Given the description of an element on the screen output the (x, y) to click on. 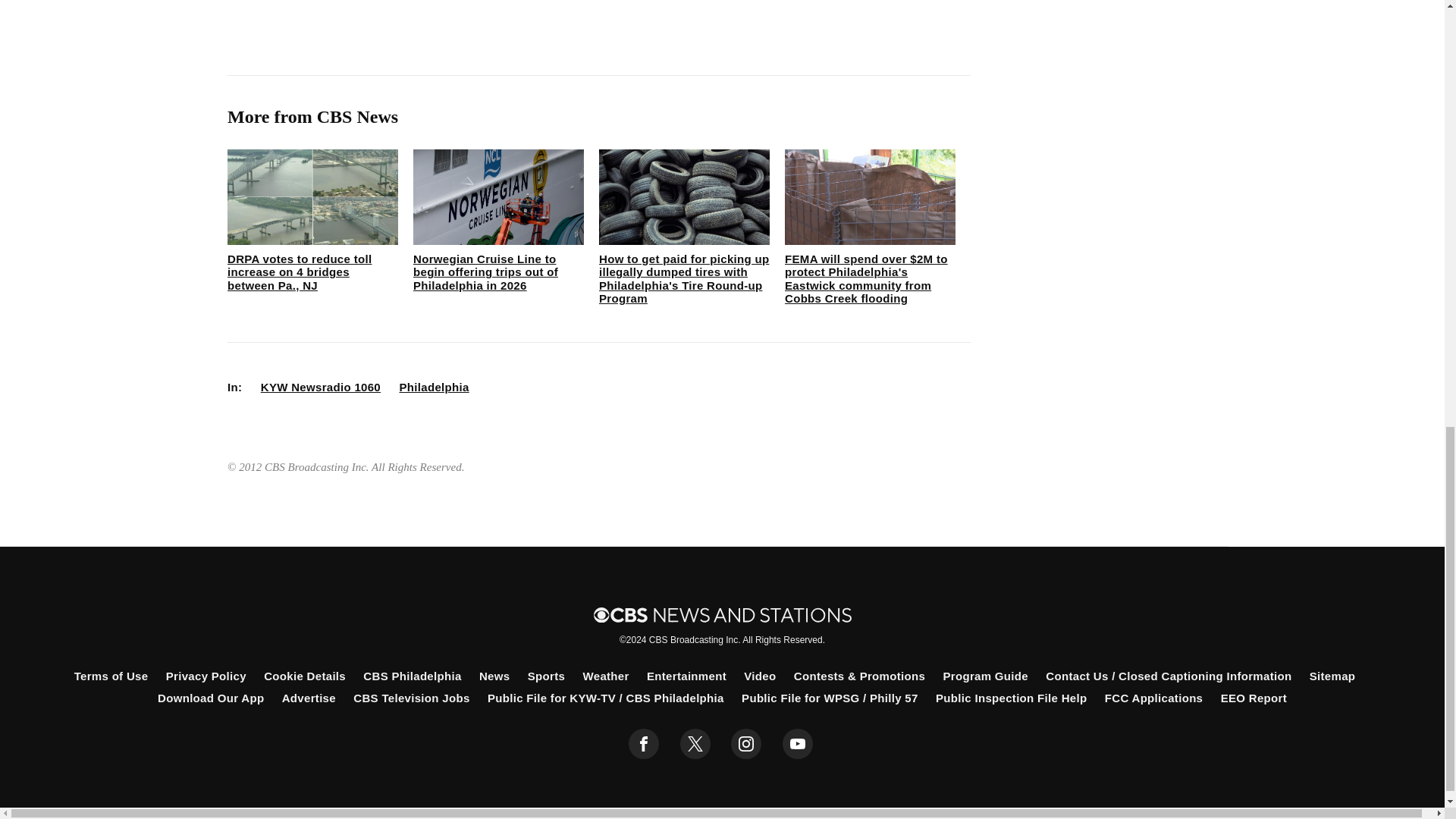
youtube (797, 743)
instagram (745, 743)
twitter (694, 743)
facebook (643, 743)
